Given the description of an element on the screen output the (x, y) to click on. 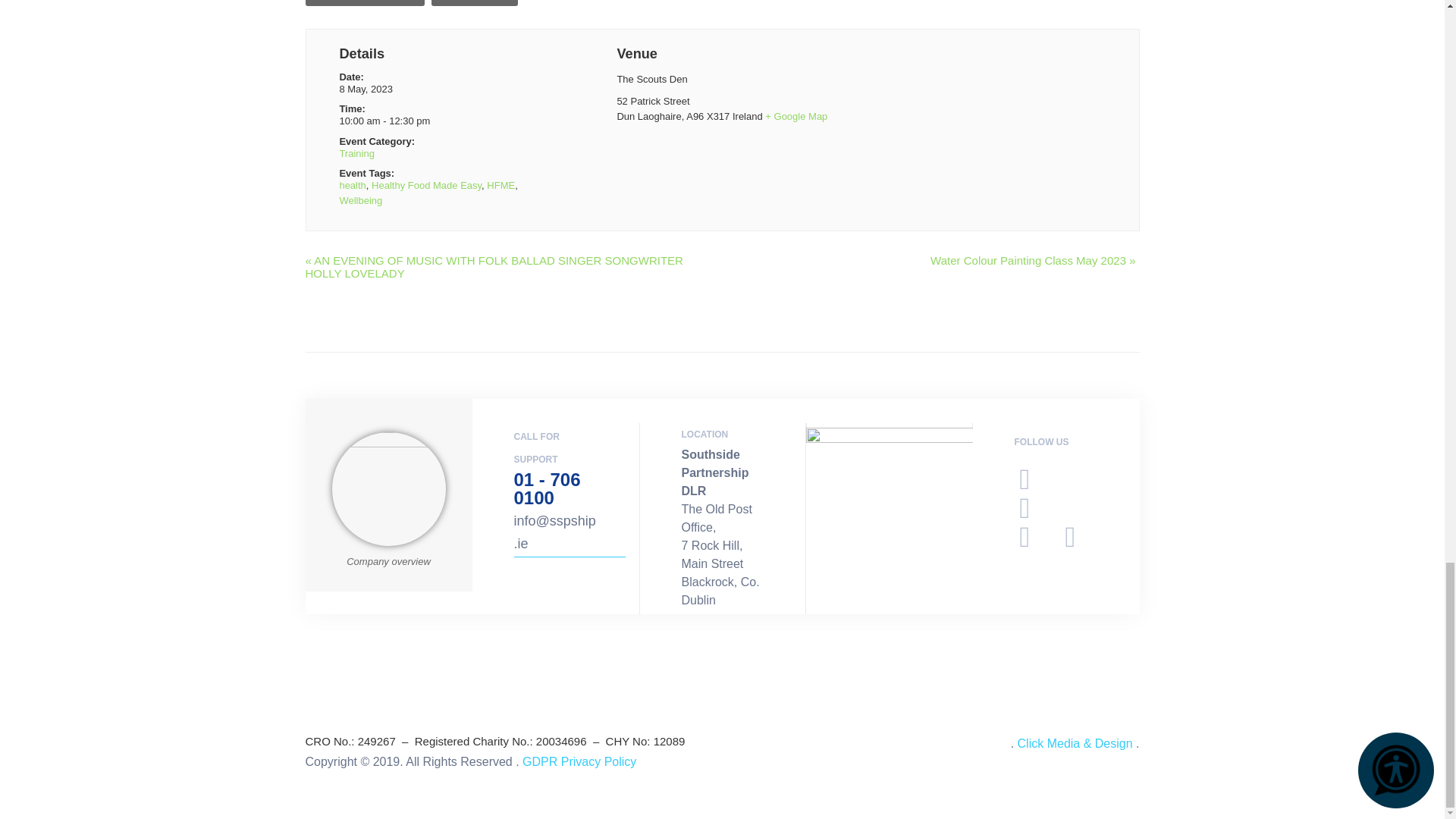
2023-05-08 (366, 89)
Add to Google Calendar (364, 2)
2023-05-08 (444, 120)
Download .ics file (474, 2)
Click to view a Google Map (796, 116)
